Given the description of an element on the screen output the (x, y) to click on. 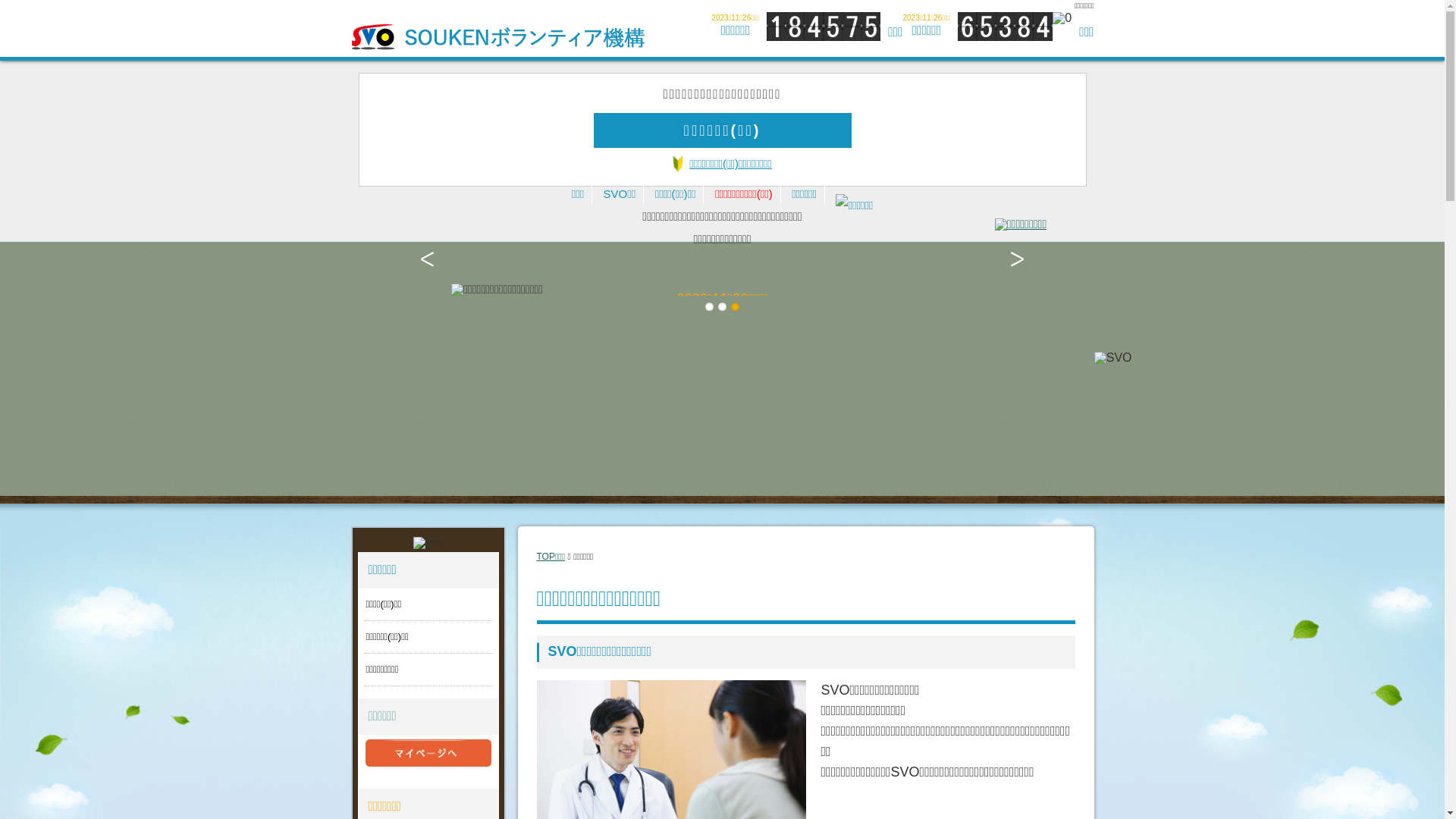
1 Element type: text (709, 306)
2 Element type: text (722, 306)
3 Element type: text (735, 306)
